Given the description of an element on the screen output the (x, y) to click on. 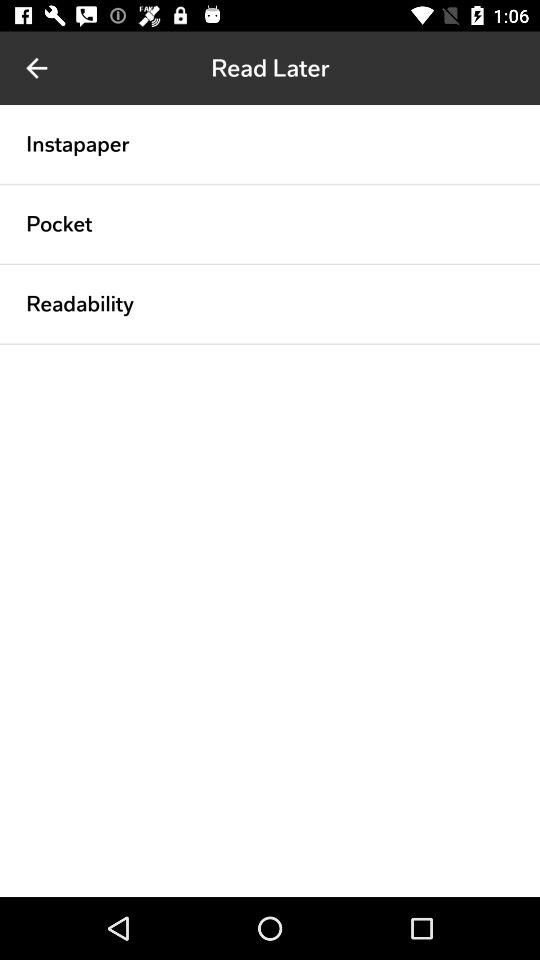
press item at the center (270, 344)
